Given the description of an element on the screen output the (x, y) to click on. 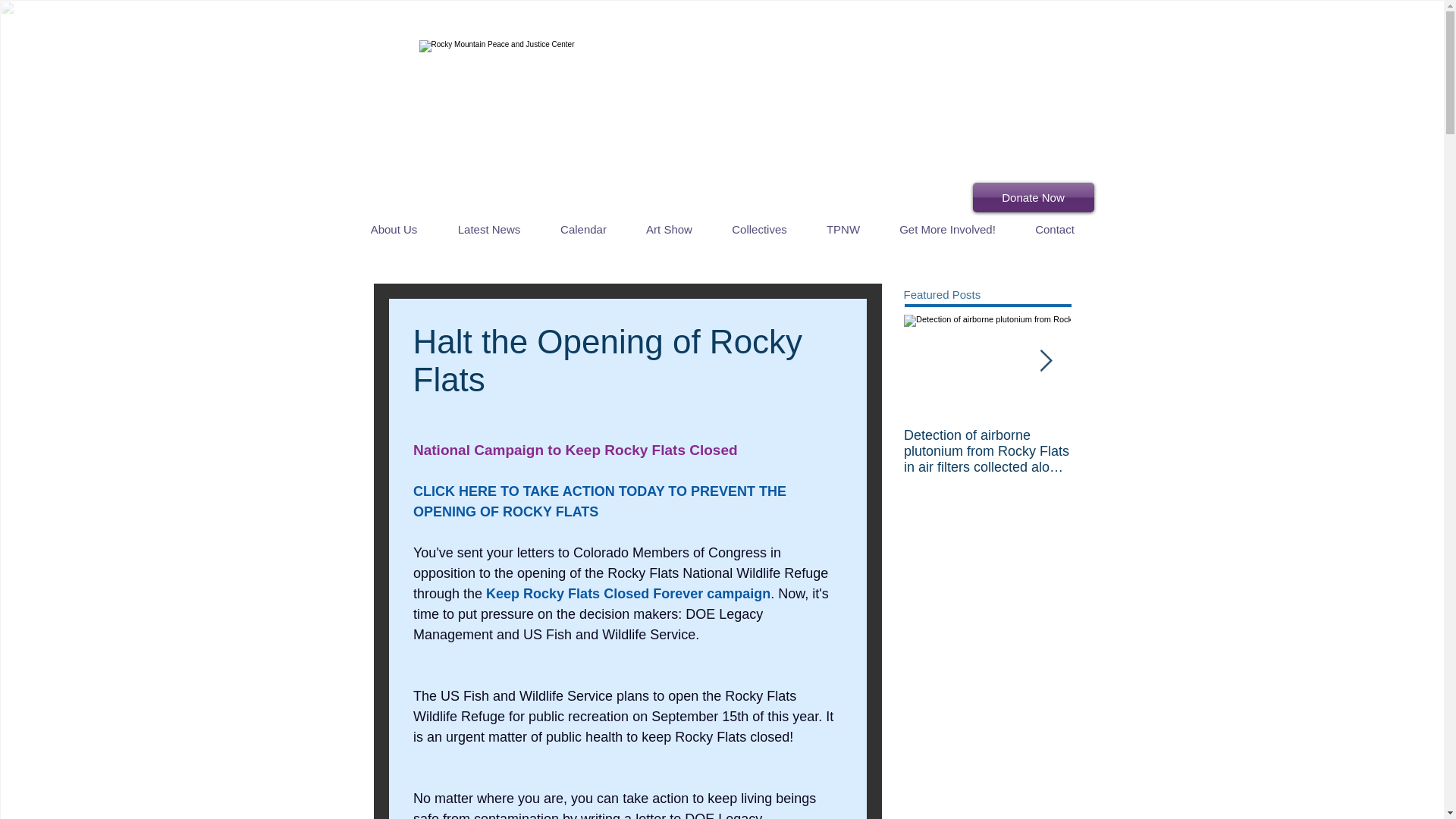
RMPJC (701, 112)
About Us (393, 229)
Collectives (758, 229)
Get More Involved! (946, 229)
Latest News (488, 229)
Keep Rocky Flats Closed Forever campaign (628, 593)
Art Show (668, 229)
National Campaign to Keep Rocky Flats Closed (574, 449)
Calendar (583, 229)
Donate Now (1032, 197)
